Given the description of an element on the screen output the (x, y) to click on. 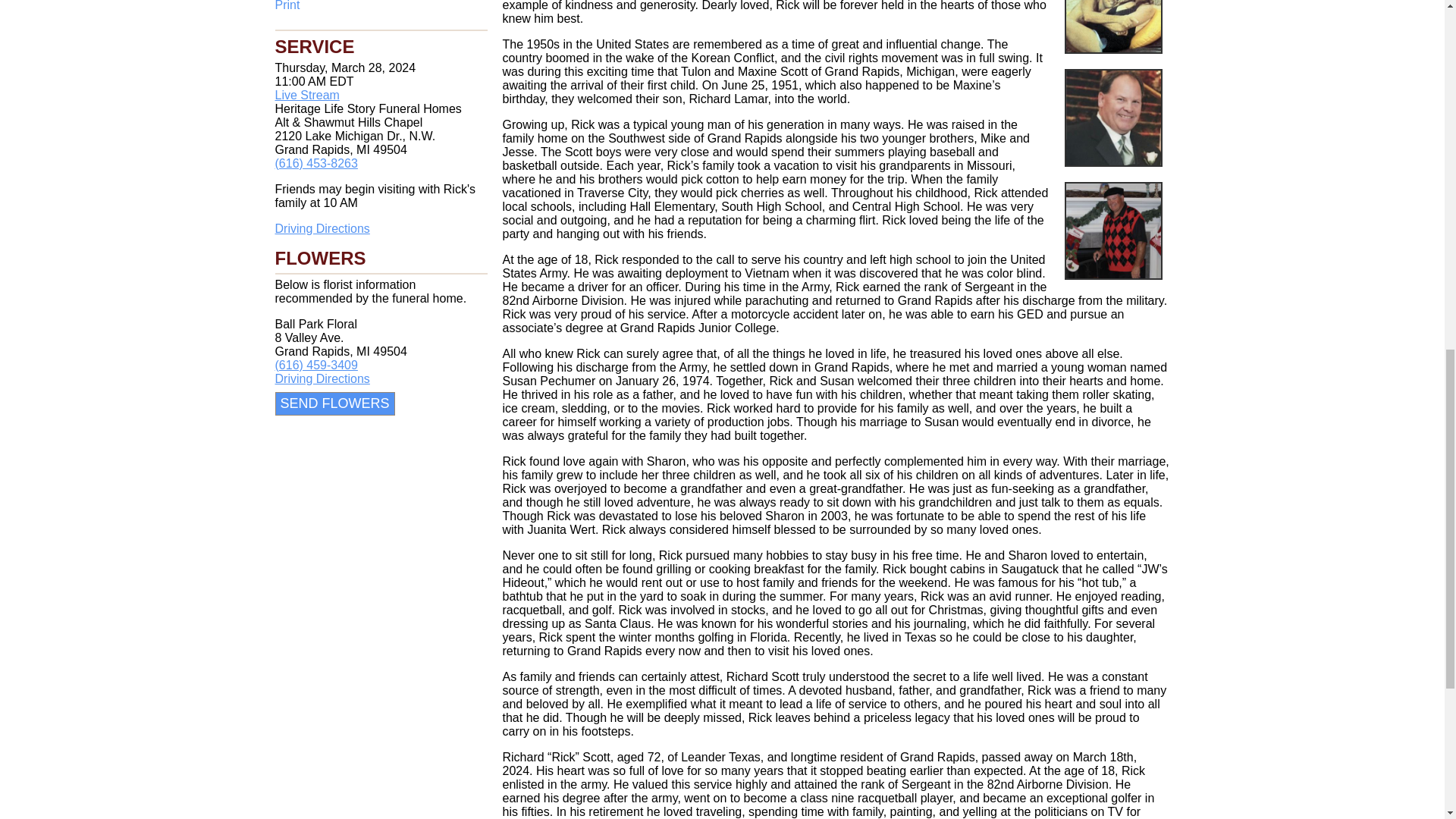
Richard Scott picture 3 (1112, 117)
Driving Directions (322, 228)
Print (380, 6)
Richard Scott picture 4 (1112, 230)
Driving Directions (322, 378)
Send Flowers (334, 403)
Richard Scott picture 2 (1112, 27)
Live Stream (307, 94)
